Given the description of an element on the screen output the (x, y) to click on. 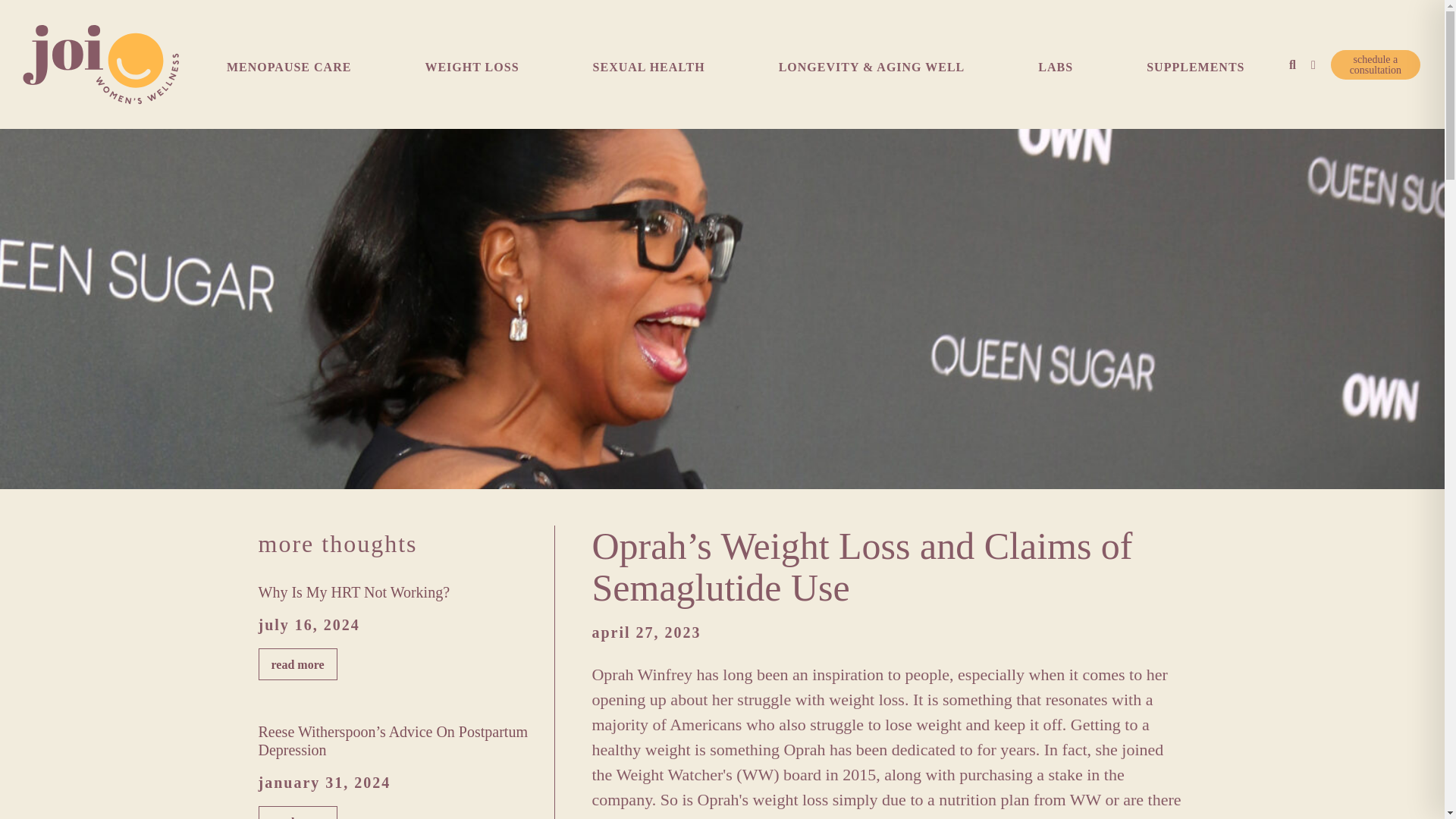
WEIGHT LOSS (470, 73)
SUPPLEMENTS (1195, 73)
LABS (1055, 73)
MENOPAUSE CARE (287, 73)
SEXUAL HEALTH (648, 73)
